Given the description of an element on the screen output the (x, y) to click on. 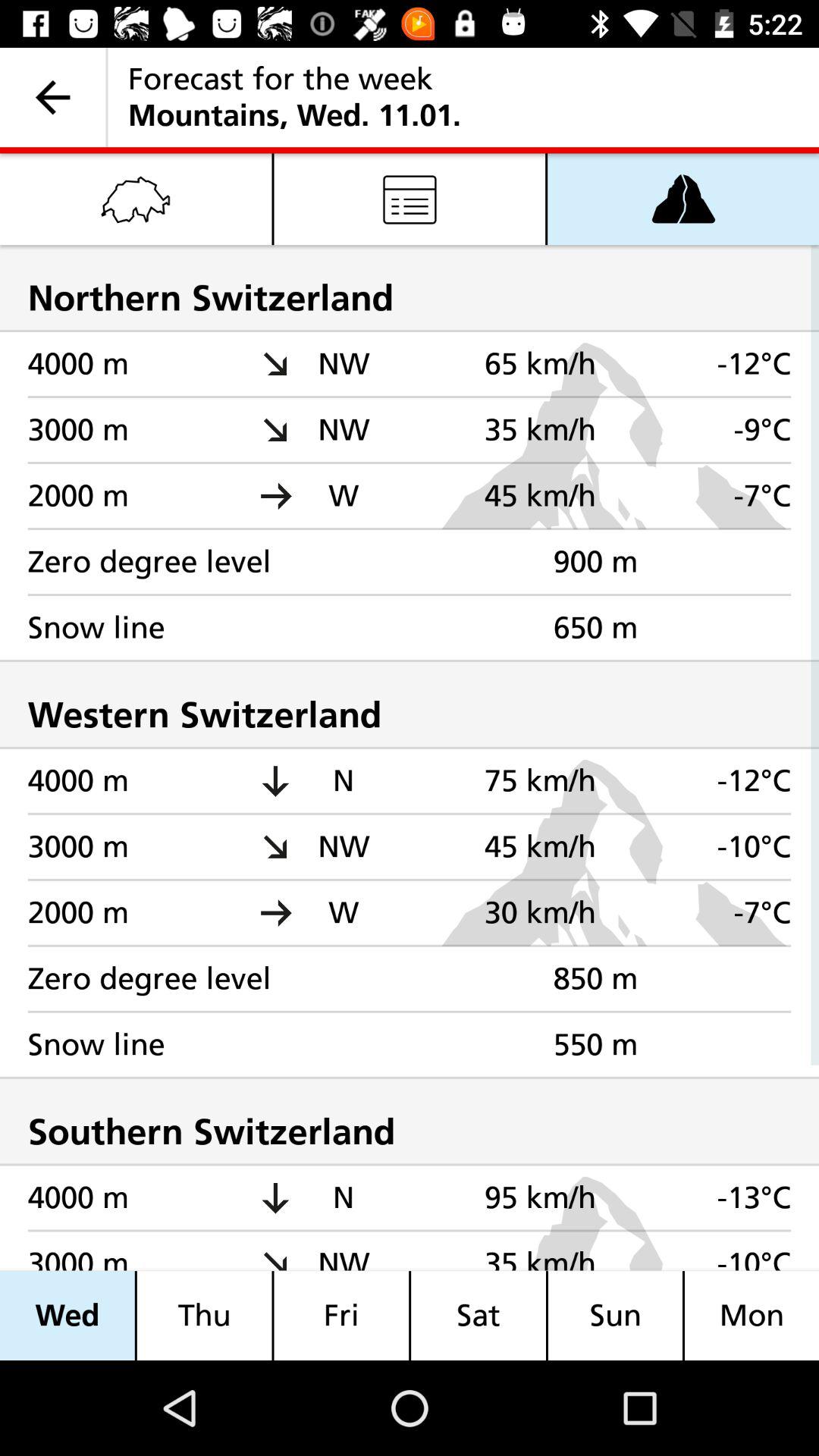
open the item next to wed (204, 1315)
